Given the description of an element on the screen output the (x, y) to click on. 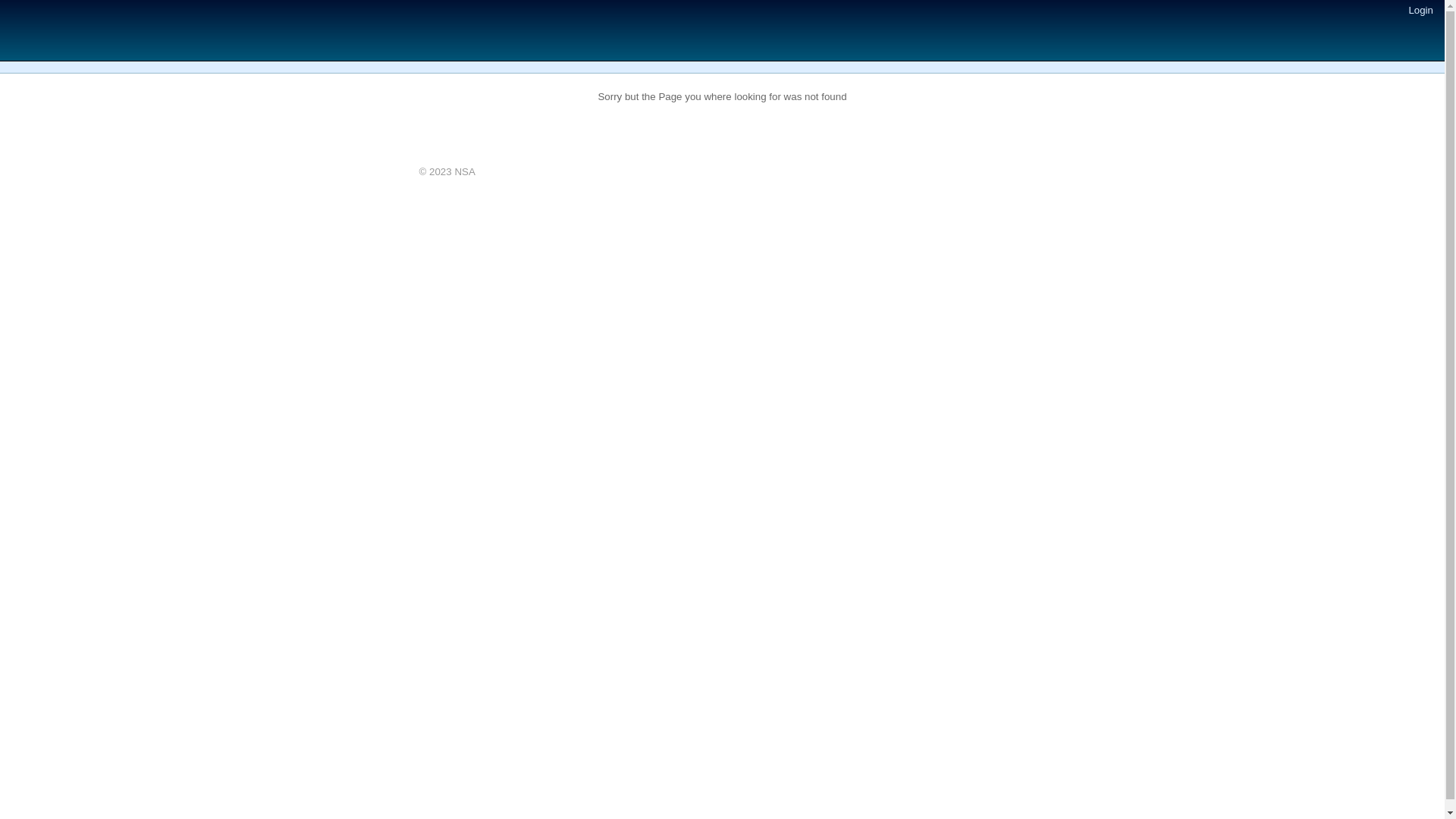
Login Element type: text (1420, 9)
